Given the description of an element on the screen output the (x, y) to click on. 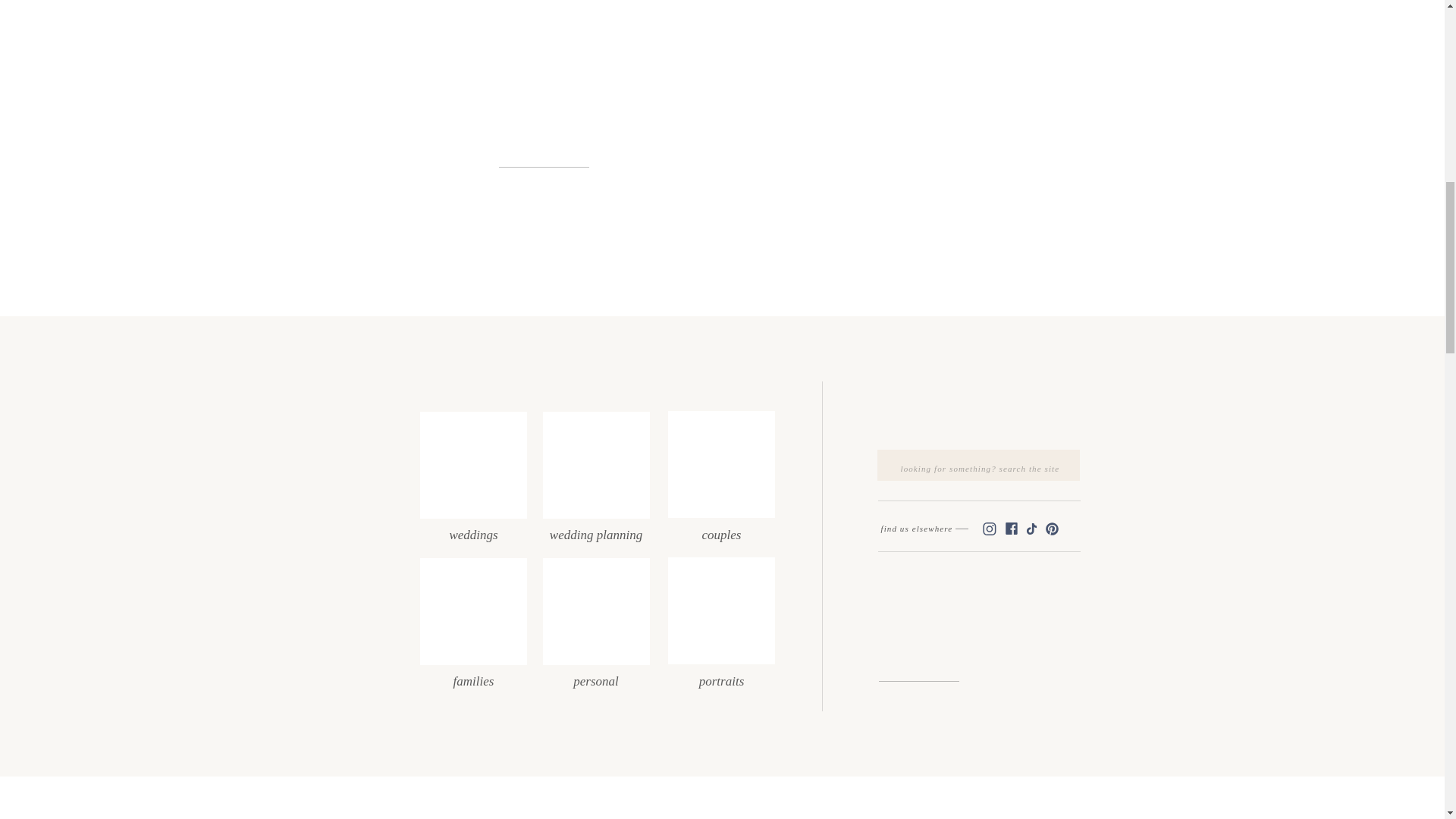
Facebook Copy-color Created with Sketch. (1010, 528)
couples (720, 529)
portraits (720, 675)
Instagram-color Created with Sketch. (988, 528)
Instagram-color Created with Sketch. (988, 528)
personal (595, 675)
Facebook Copy-color Created with Sketch. (1010, 528)
wedding planning (595, 529)
families (473, 675)
weddings (473, 529)
